Given the description of an element on the screen output the (x, y) to click on. 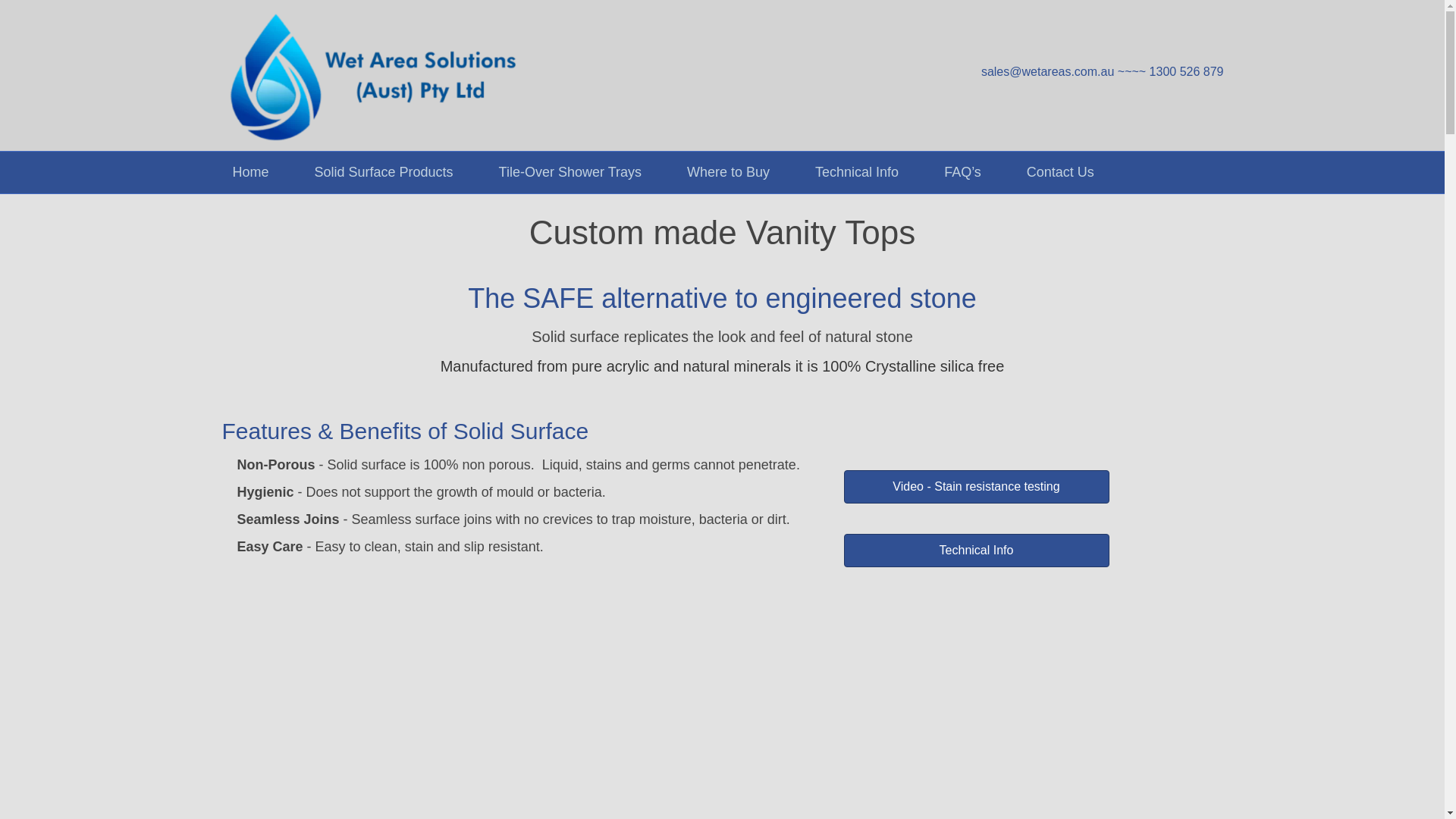
Technical Info (856, 172)
Technical Info (975, 550)
Home (250, 172)
Contact Us (1060, 172)
Video - Stain resistance testing (975, 486)
Tile-Over Shower Trays (569, 172)
Solid Surface Products (384, 172)
Where to Buy (727, 172)
